Given the description of an element on the screen output the (x, y) to click on. 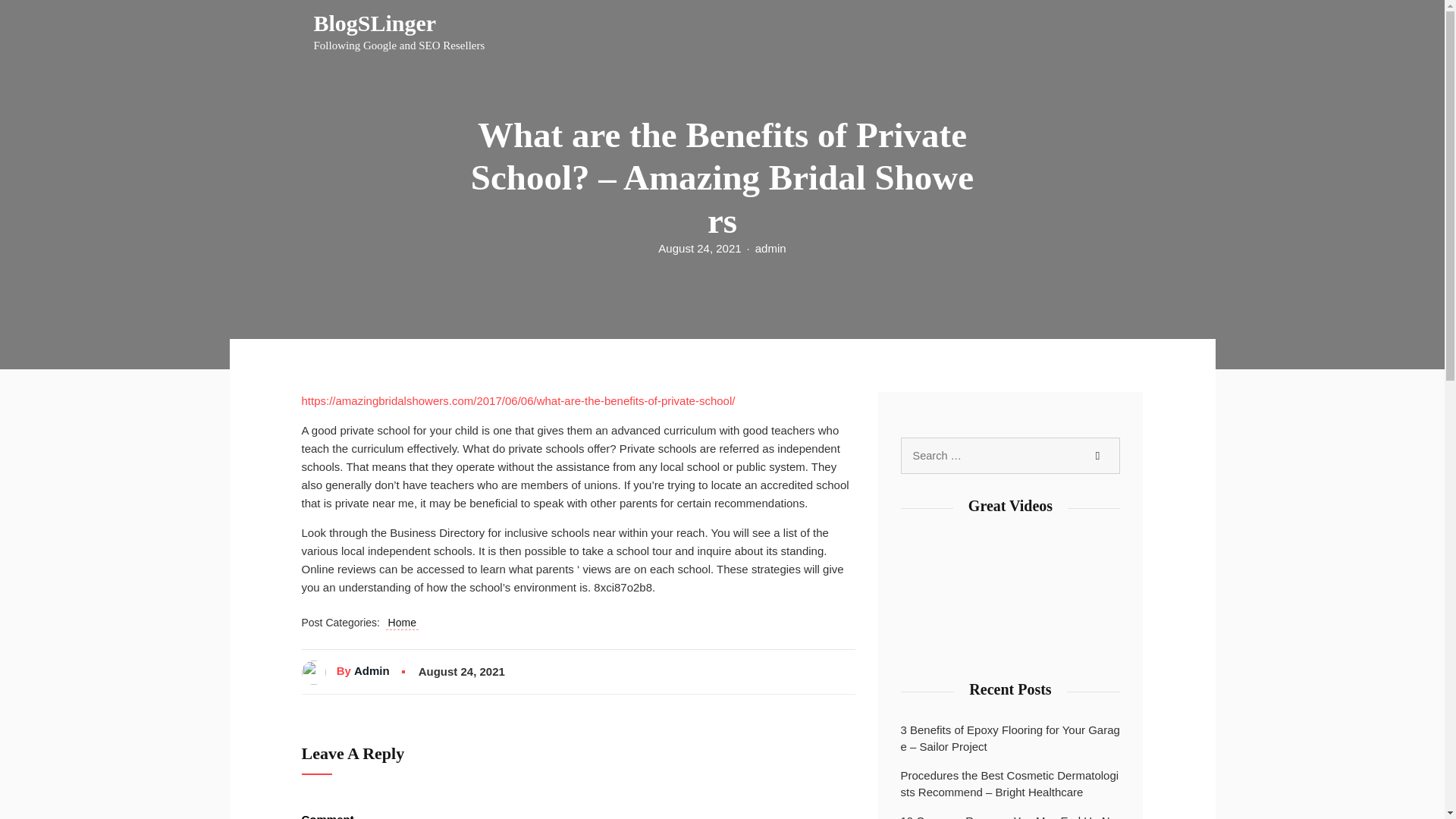
Home (402, 622)
August 24, 2021 (699, 248)
Admin (371, 671)
admin (770, 248)
Search (399, 31)
